Given the description of an element on the screen output the (x, y) to click on. 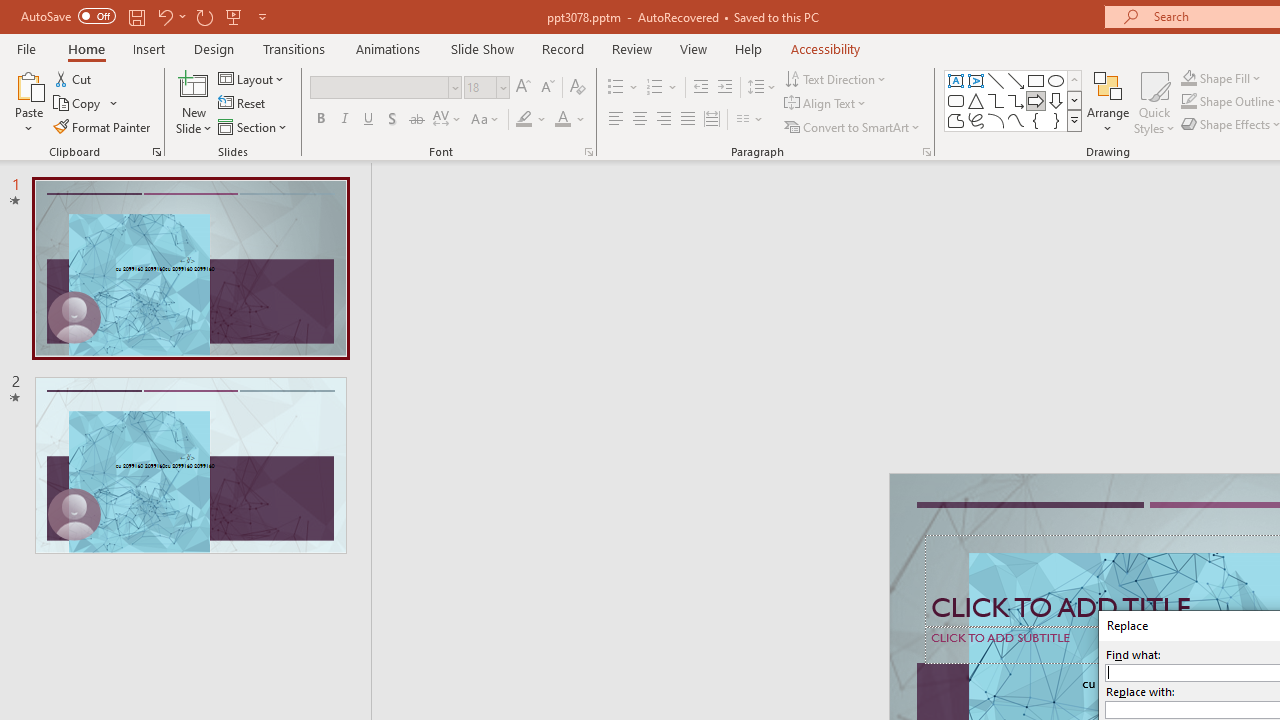
Center (639, 119)
Character Spacing (447, 119)
Left Brace (1035, 120)
Cut (73, 78)
Office Clipboard... (156, 151)
Vertical Text Box (975, 80)
Rectangle: Rounded Corners (955, 100)
